Given the description of an element on the screen output the (x, y) to click on. 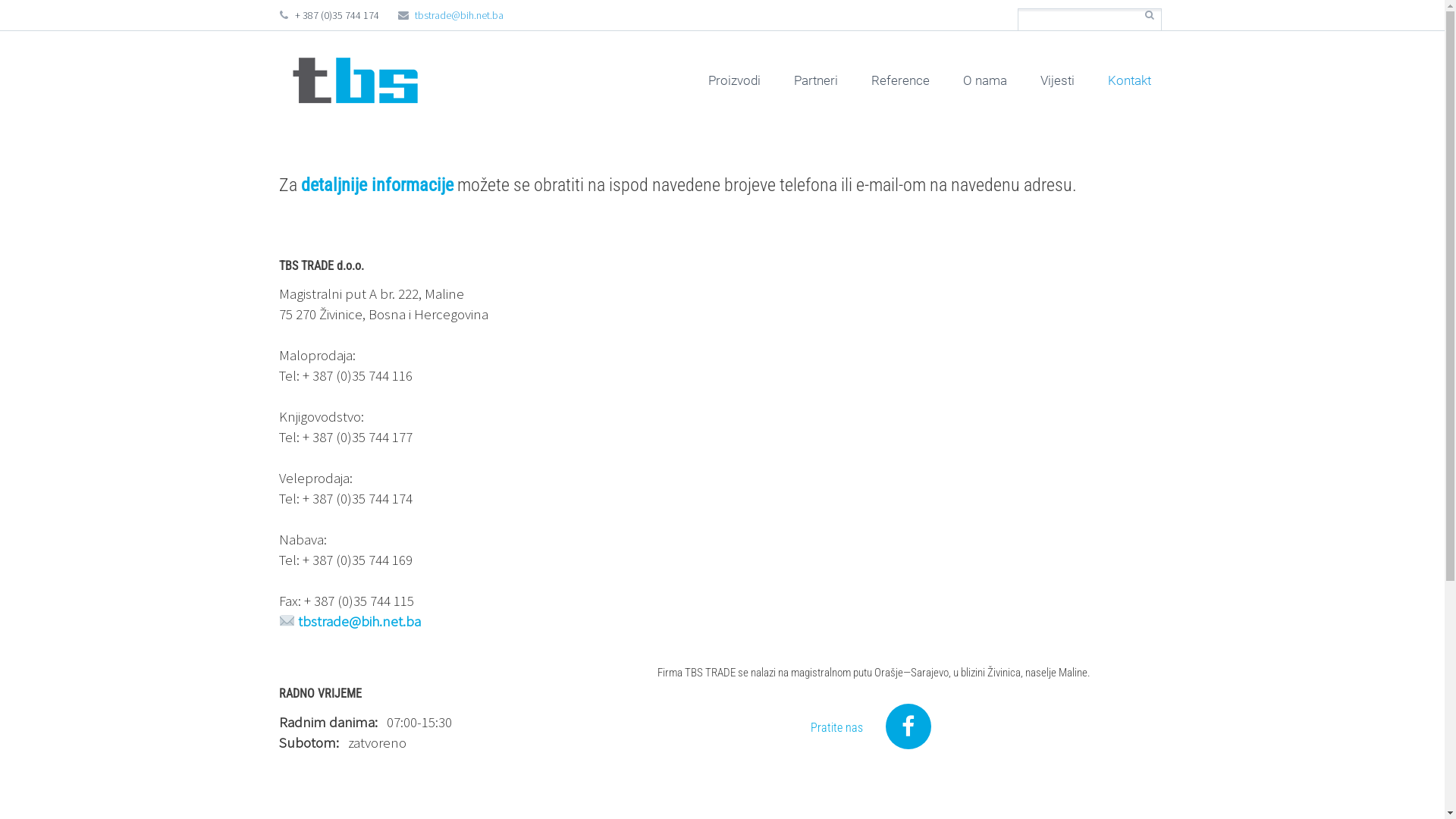
Facebook TBS TRADE Element type: hover (908, 726)
tbstrade@bih.net.ba Element type: text (350, 620)
Search Element type: text (1150, 15)
Kontakt Element type: text (1128, 80)
Proizvodi Element type: text (734, 80)
Reference Element type: text (899, 80)
tbstrade@bih.net.ba Element type: text (458, 14)
Partneri Element type: text (815, 80)
O nama Element type: text (984, 80)
Vijesti Element type: text (1057, 80)
